Given the description of an element on the screen output the (x, y) to click on. 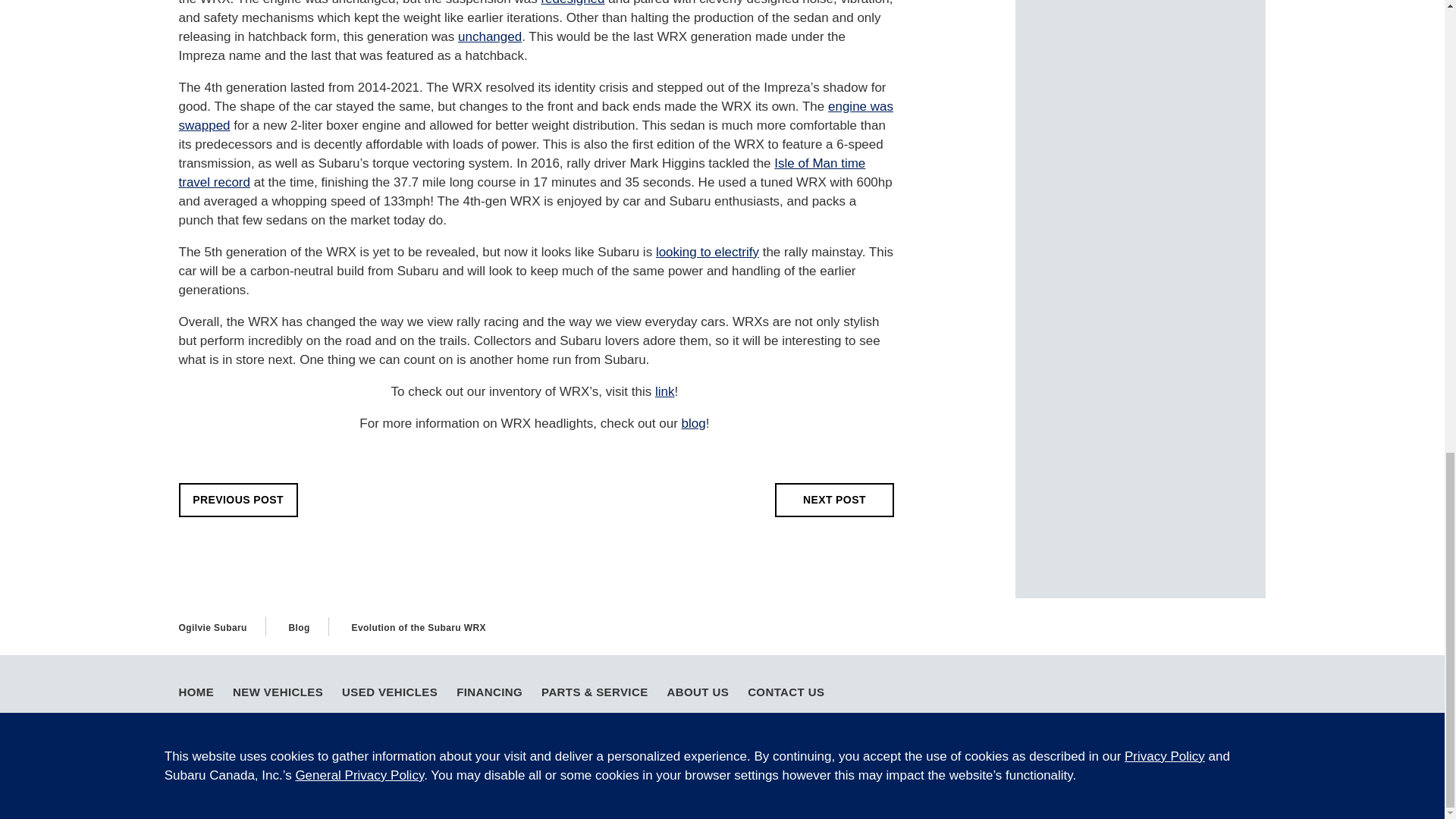
Go to Ogilvie Subaru. (213, 627)
Go to the Blog category archives. (299, 627)
Powered by EDealer (1235, 760)
